Given the description of an element on the screen output the (x, y) to click on. 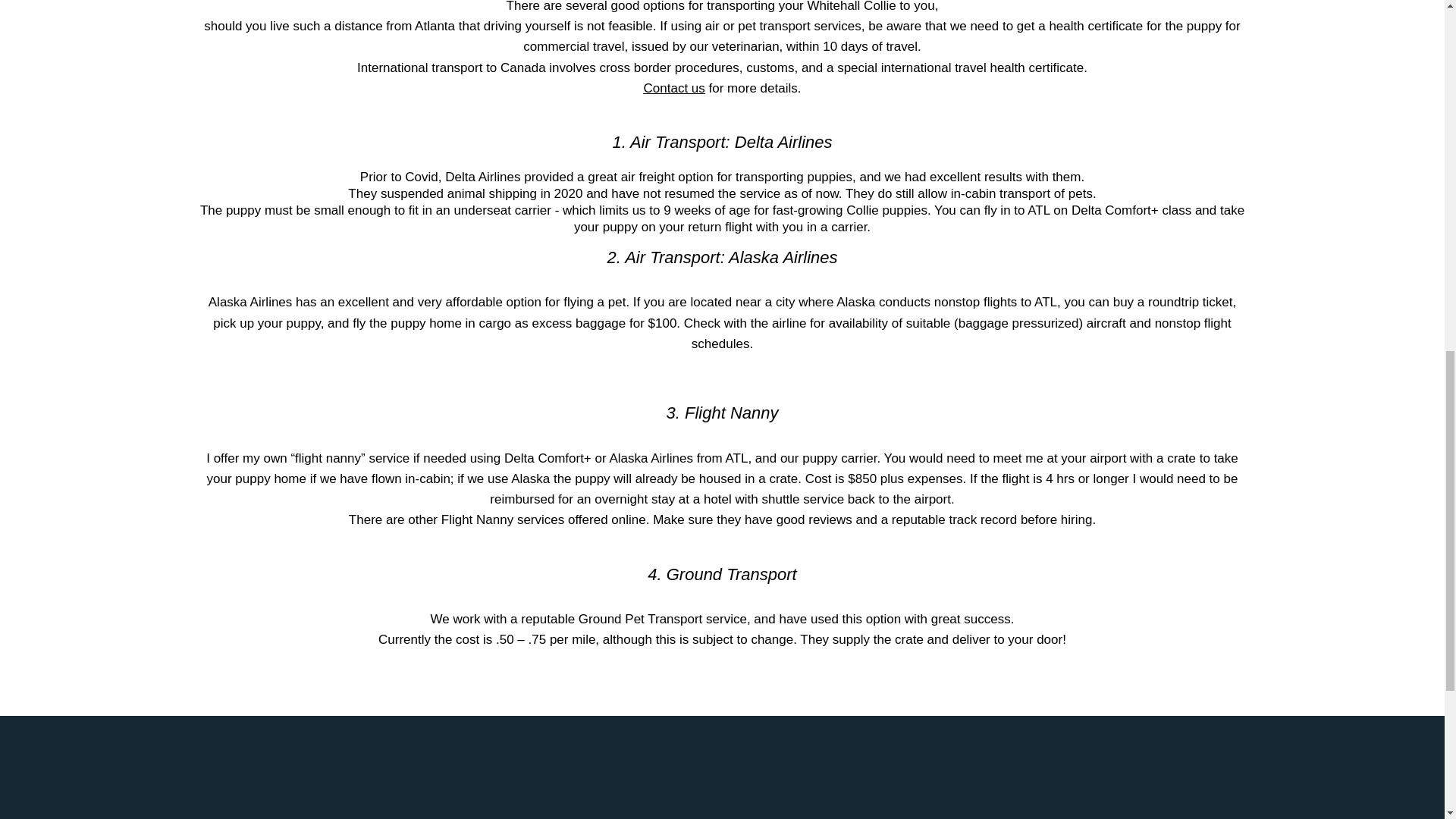
Contact us (673, 246)
